Given the description of an element on the screen output the (x, y) to click on. 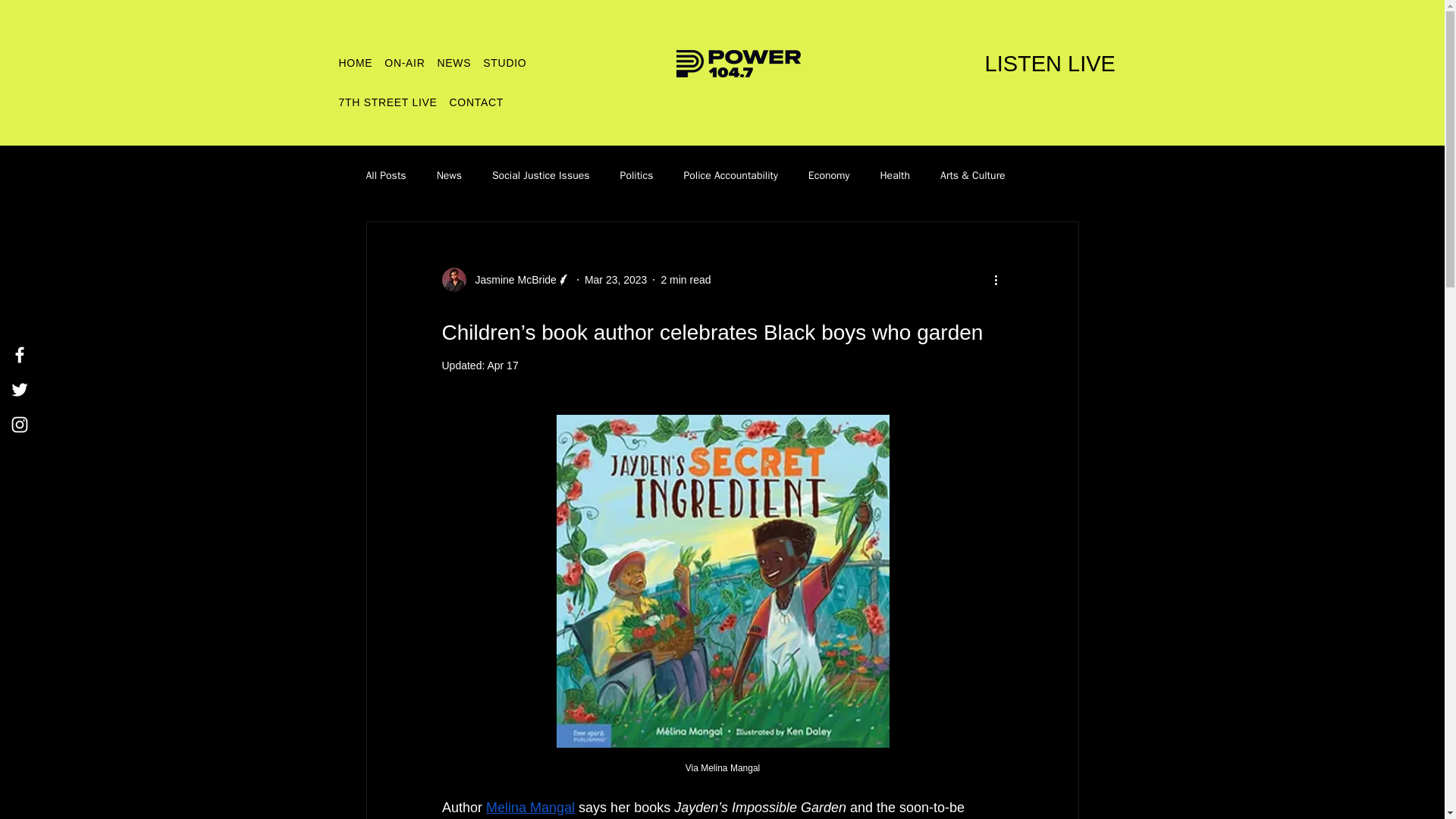
Mar 23, 2023 (616, 278)
Melina Mangal (530, 807)
Politics (636, 175)
ON-AIR (404, 62)
no (738, 62)
LISTEN LIVE (1050, 62)
Social Justice Issues (540, 175)
Jasmine McBride (505, 279)
CONTACT (476, 101)
Economy (829, 175)
STUDIO (504, 62)
Police Accountability (729, 175)
Health (894, 175)
HOME (355, 62)
News (448, 175)
